Given the description of an element on the screen output the (x, y) to click on. 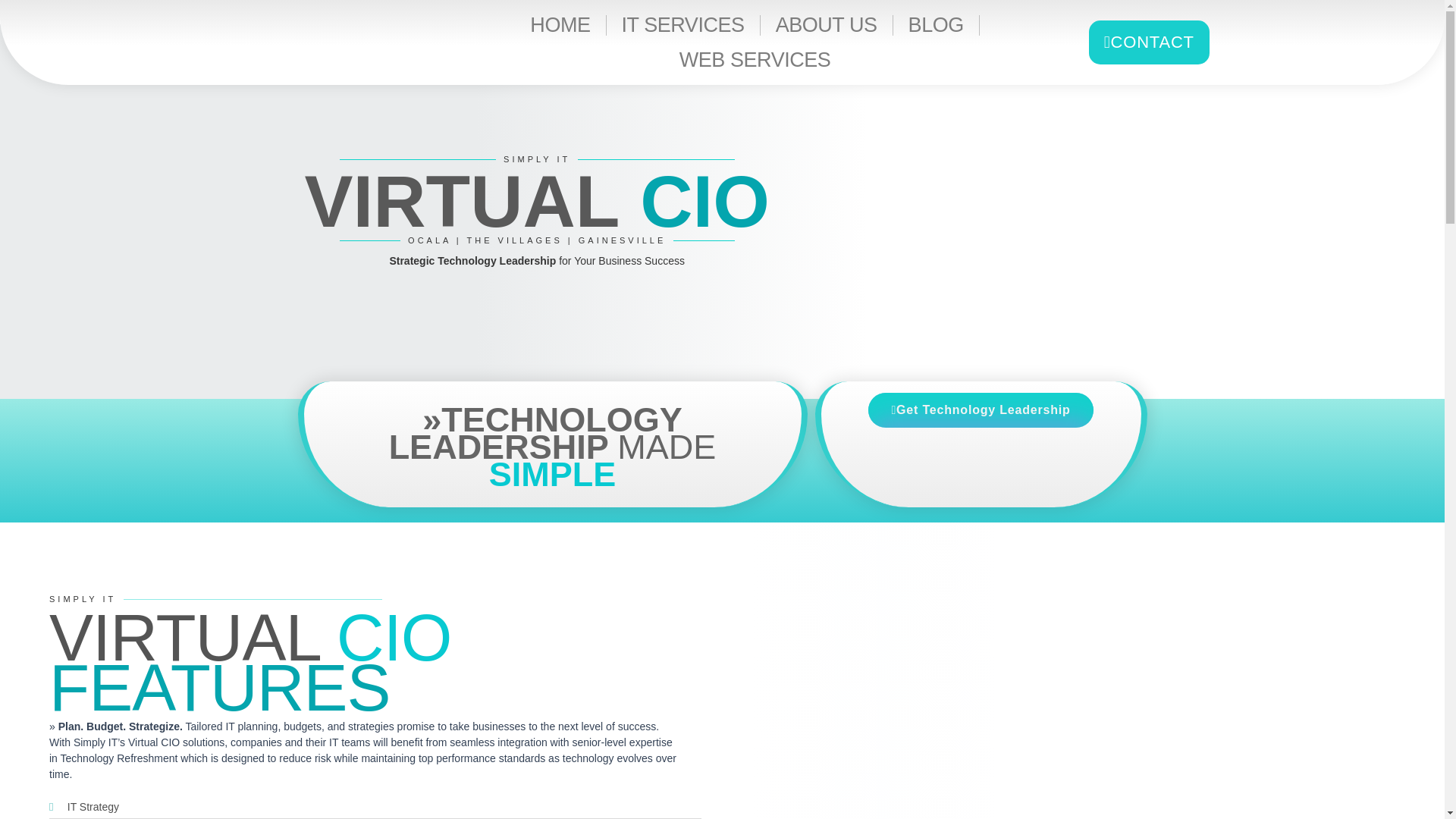
IT SERVICES (683, 24)
ABOUT US (826, 24)
HOME (559, 24)
